Given the description of an element on the screen output the (x, y) to click on. 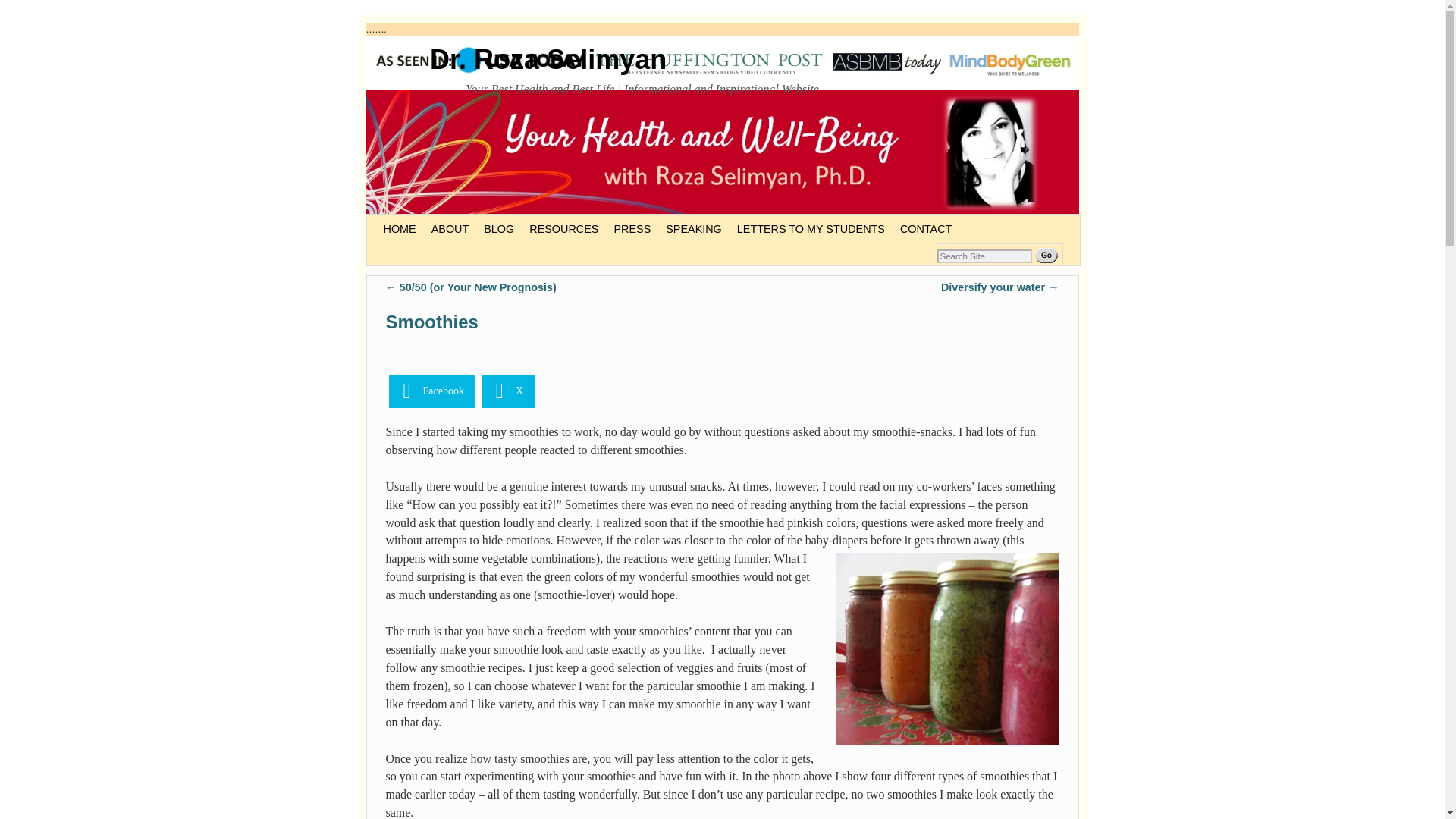
ABOUT (450, 228)
SPEAKING (693, 228)
BLOG (498, 228)
Facebook (431, 390)
Dr. Roza Selimyan (547, 59)
LETTERS TO MY STUDENTS (810, 228)
Skip to secondary content (412, 220)
HOME (399, 228)
Share this article on X (507, 390)
X (507, 390)
Share this article on Facebook (431, 390)
Dr. Roza Selimyan (547, 59)
RESOURCES (563, 228)
CONTACT (925, 228)
PRESS (631, 228)
